Given the description of an element on the screen output the (x, y) to click on. 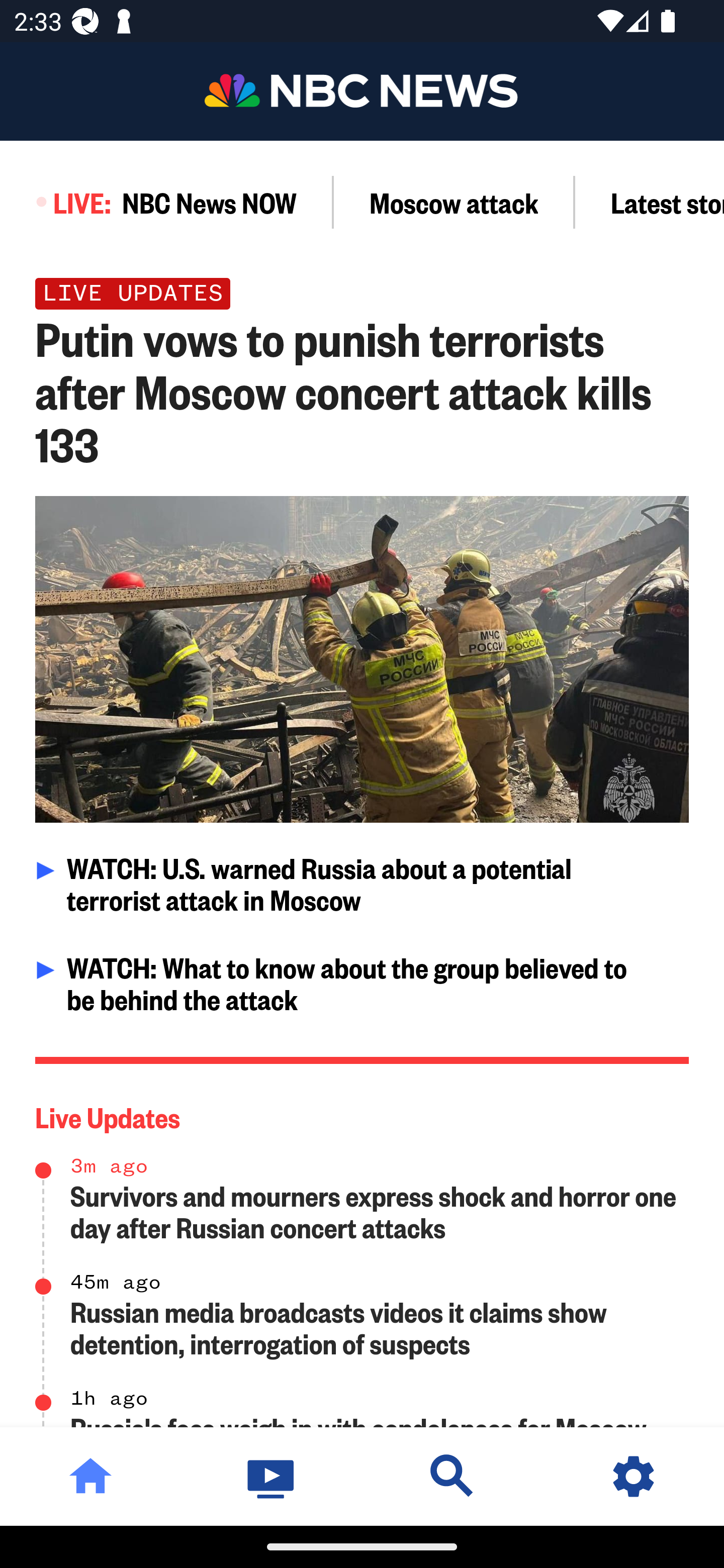
LIVE:  NBC News NOW (166, 202)
Moscow attack (453, 202)
Latest stories Section,Latest stories (649, 202)
Watch (271, 1475)
Discover (452, 1475)
Settings (633, 1475)
